Given the description of an element on the screen output the (x, y) to click on. 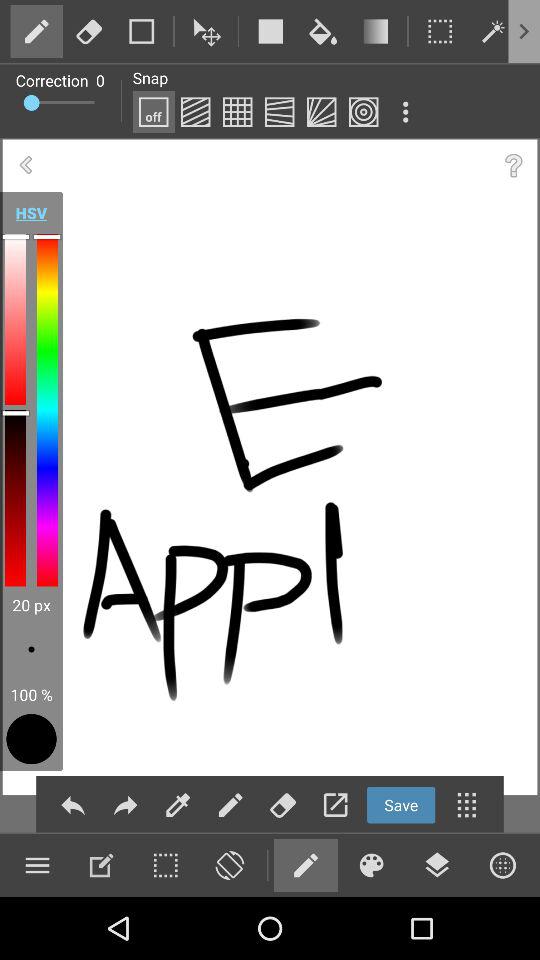
eraser button (89, 31)
